Given the description of an element on the screen output the (x, y) to click on. 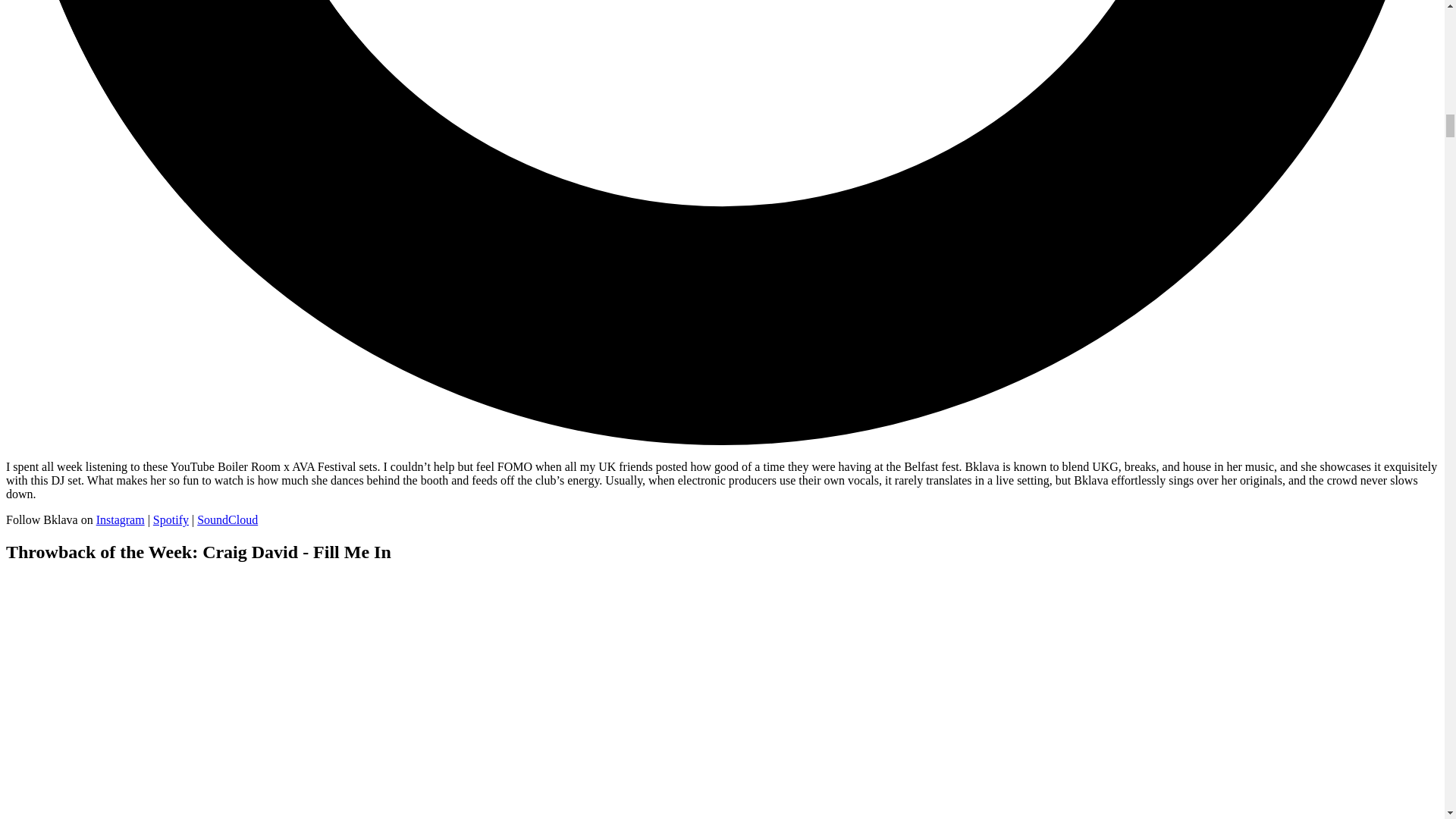
SoundCloud (226, 519)
Instagram (120, 519)
Spotify (170, 519)
